Given the description of an element on the screen output the (x, y) to click on. 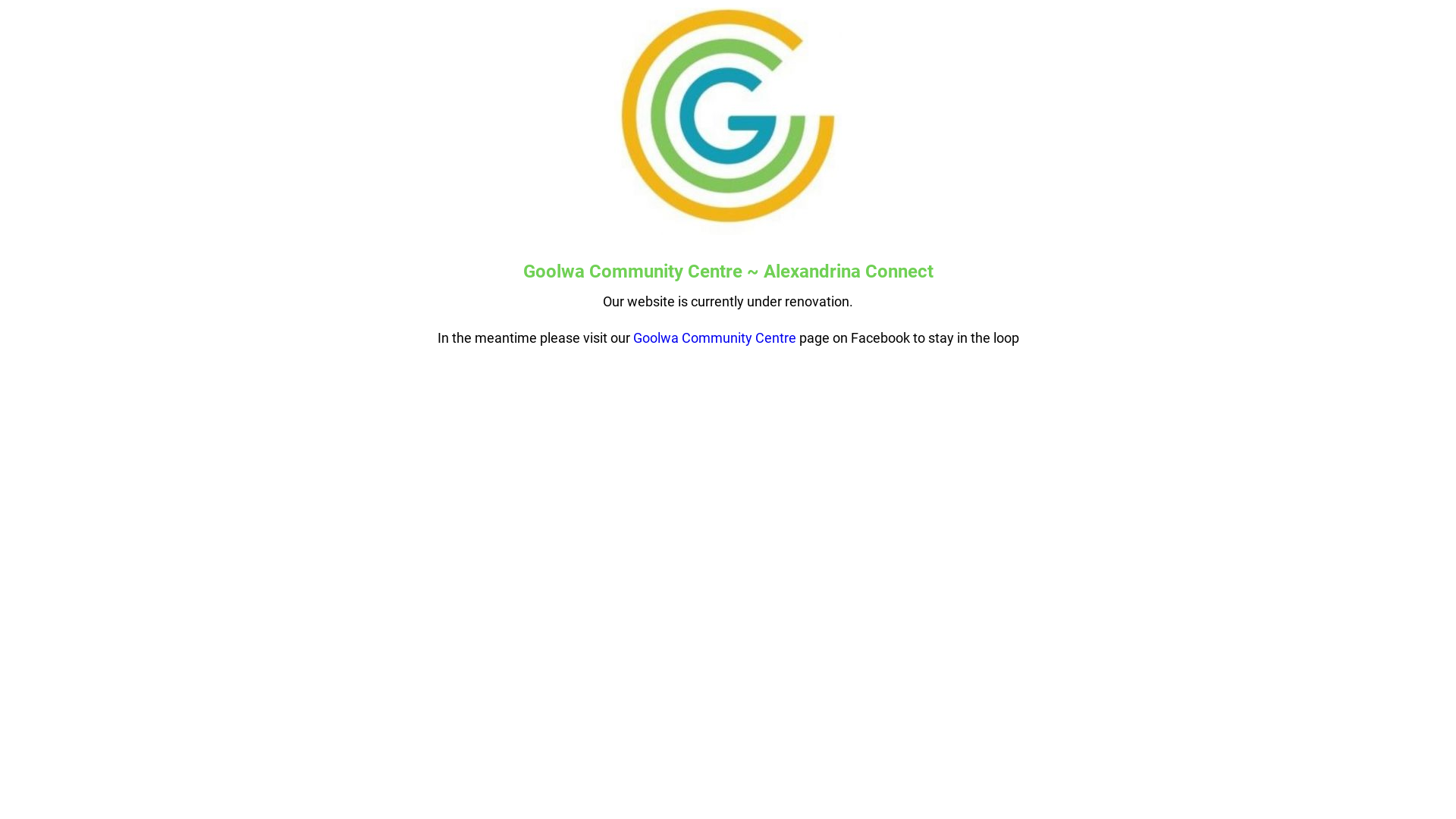
Goolwa Community Centre ~ Alexandrina Connect Element type: text (728, 271)
Goolwa Community Centre Element type: text (713, 337)
